Given the description of an element on the screen output the (x, y) to click on. 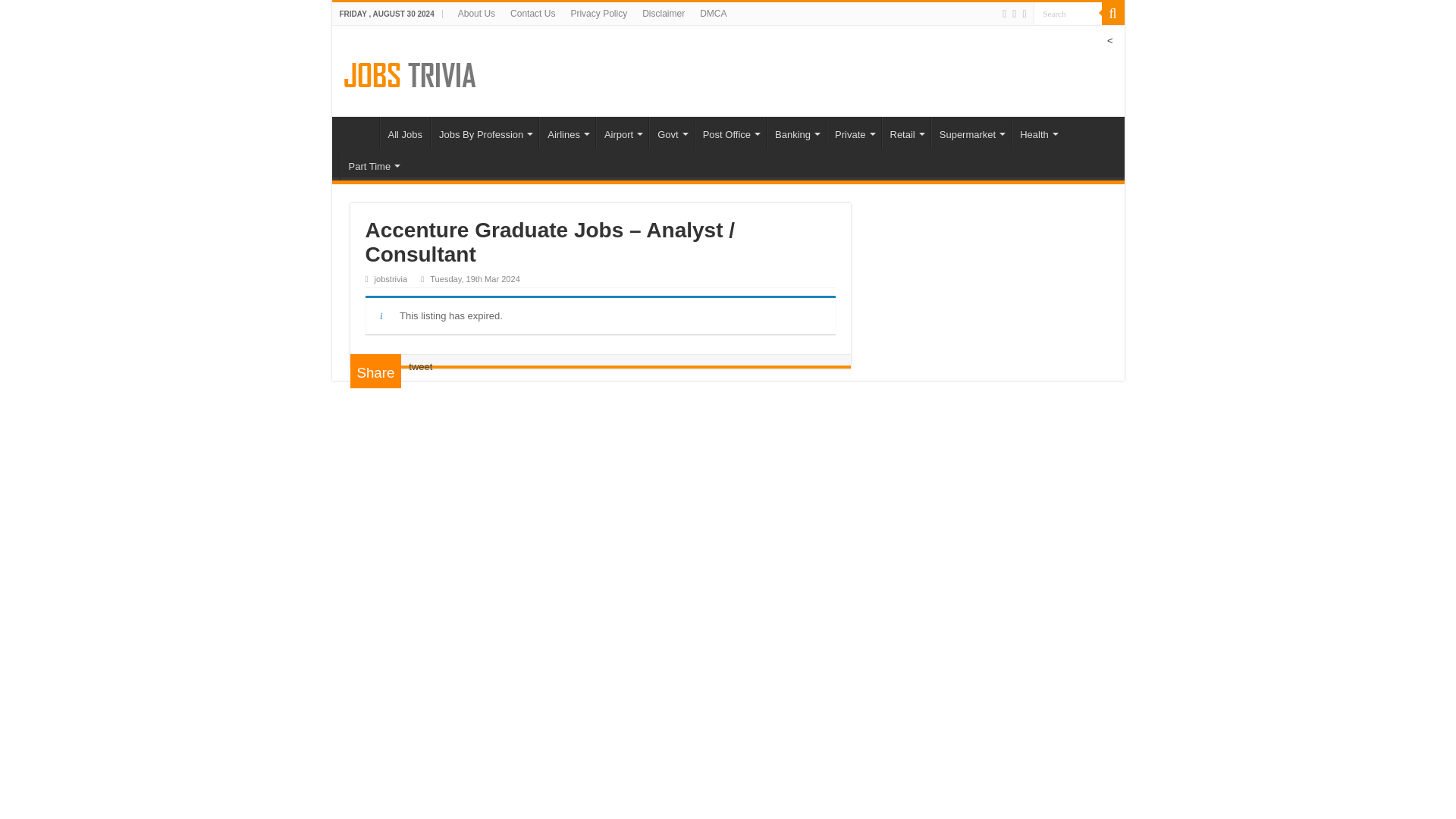
Contact Us (532, 13)
Search (1066, 13)
Privacy Policy (598, 13)
Search (1066, 13)
Search (1112, 13)
Airlines (566, 132)
Jobs By Profession (484, 132)
All Jobs (403, 132)
Search (1066, 13)
DMCA (713, 13)
